Given the description of an element on the screen output the (x, y) to click on. 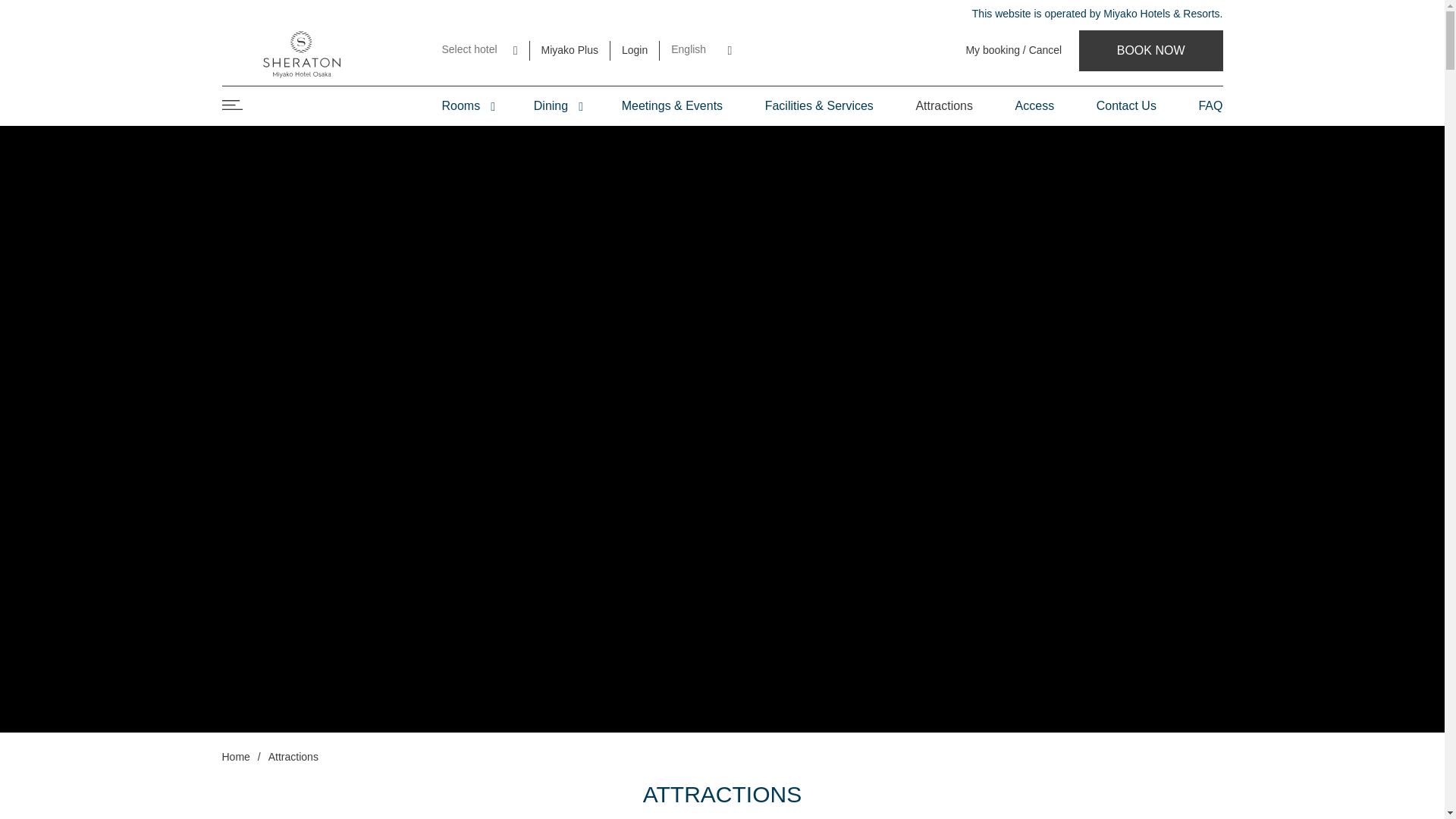
Login (634, 50)
Rooms (466, 106)
Miyako Plus (569, 50)
Sheraton Miyako Hotel Osaka (1150, 50)
BOOK NOW (1150, 50)
Imperial Suite (528, 150)
